Given the description of an element on the screen output the (x, y) to click on. 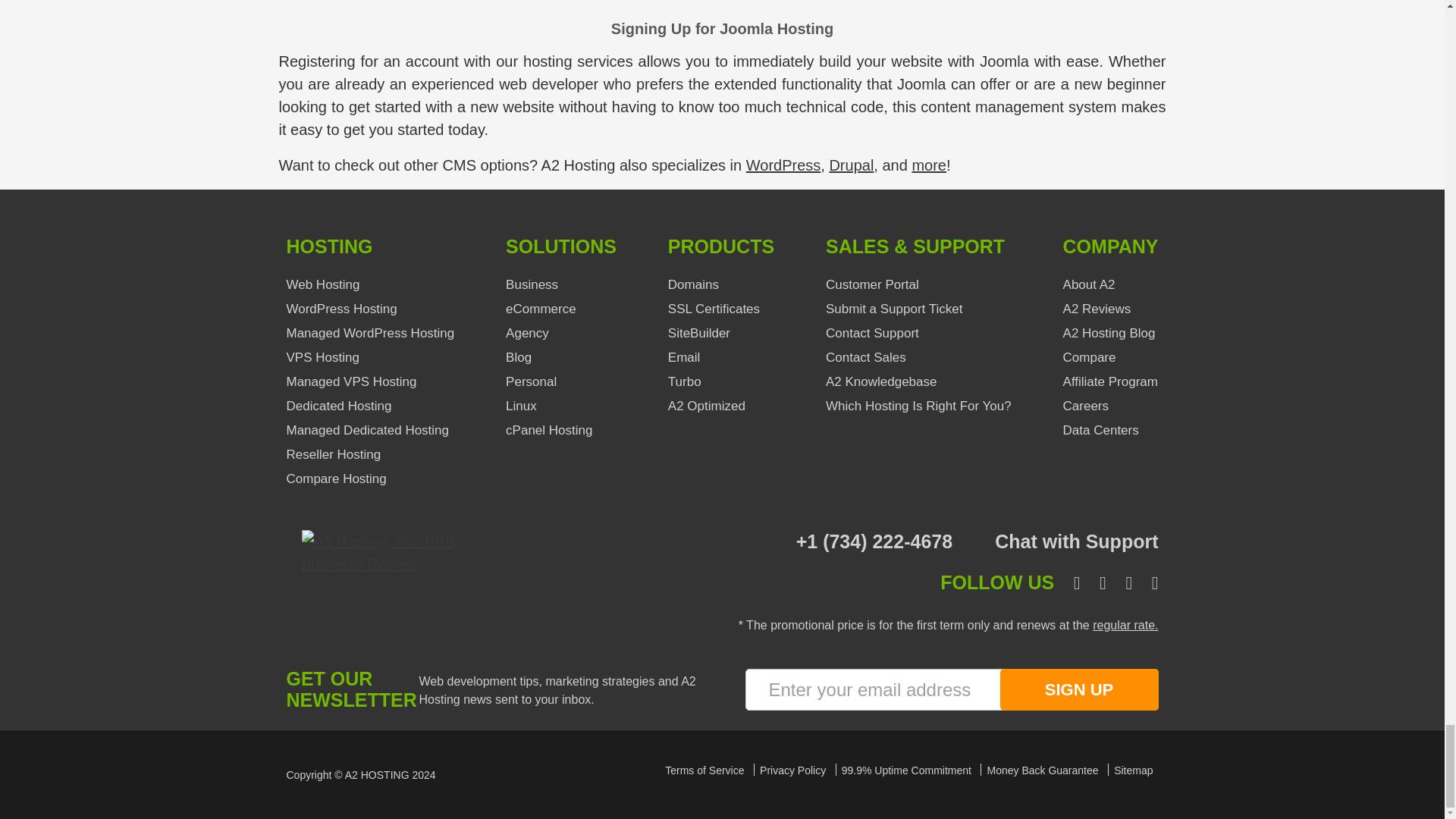
SIGN UP (1077, 689)
